Given the description of an element on the screen output the (x, y) to click on. 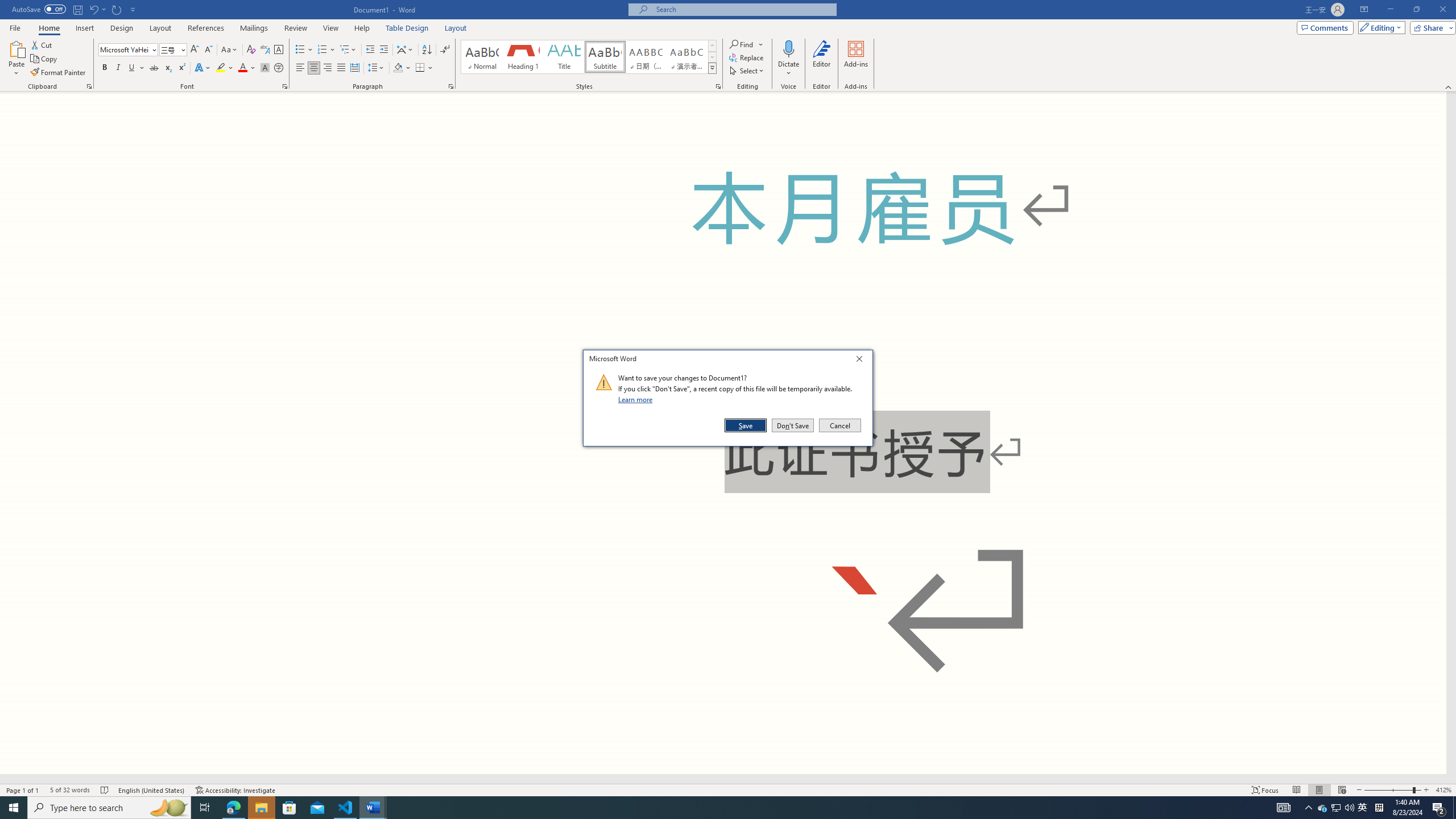
Subscript (167, 67)
Class: NetUIImage (603, 382)
Paragraph... (450, 85)
Distributed (354, 67)
Action Center, 2 new notifications (1439, 807)
Insert (83, 28)
Page Number Page 1 of 1 (22, 790)
Superscript (180, 67)
Table Design (407, 28)
Font Size (169, 49)
Minimize (1390, 9)
View (330, 28)
Editing (1379, 27)
Underline (136, 67)
File Tab (15, 27)
